Given the description of an element on the screen output the (x, y) to click on. 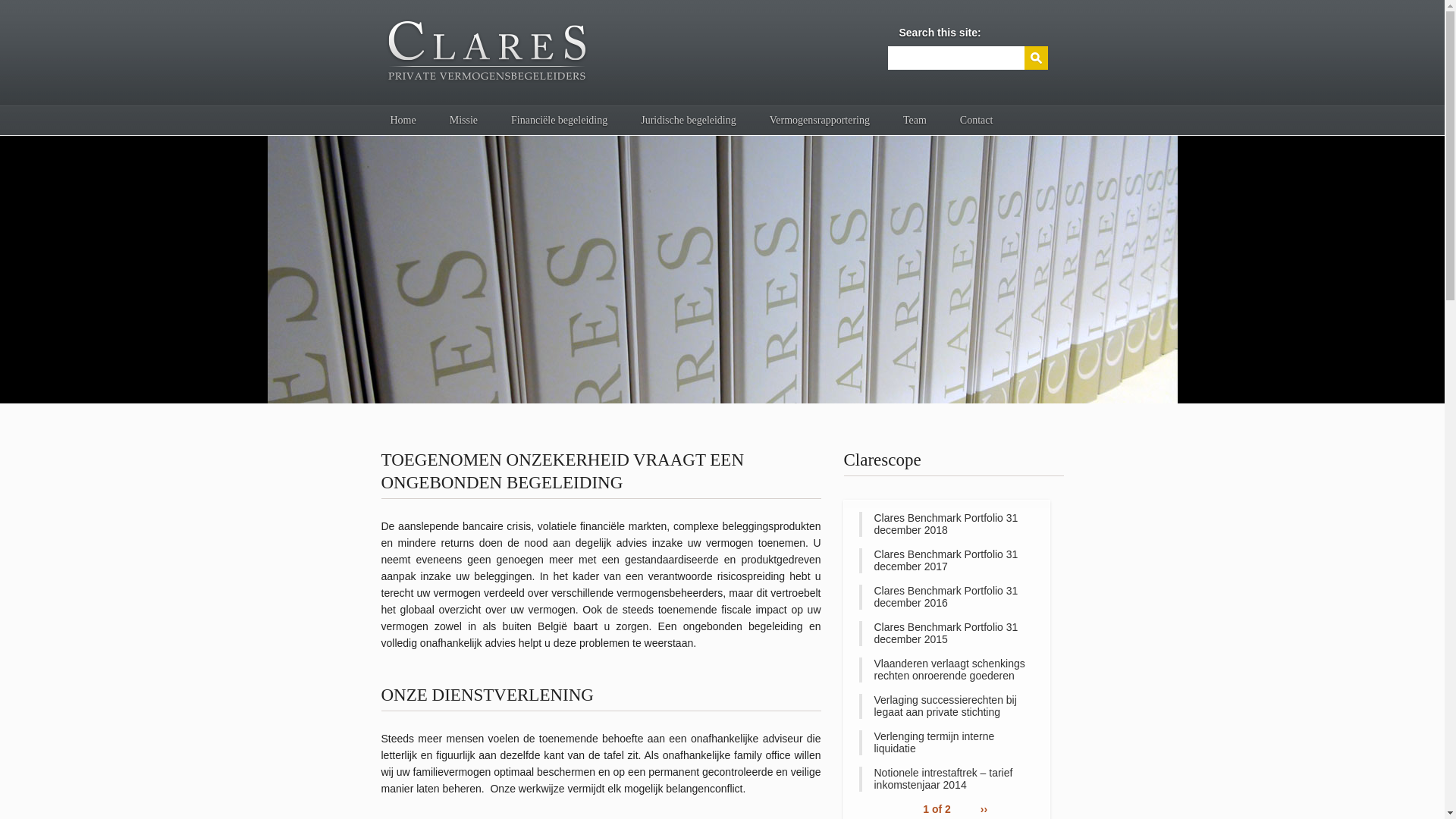
TOEGENOMEN ONZEKERHEID VRAAGT EEN ONGEBONDEN BEGELEIDING Element type: text (561, 472)
Verlaging successierechten bij legaat aan private stichting Element type: text (945, 705)
Clares Benchmark Portfolio 31 december 2016 Element type: text (945, 596)
Vermogensrapportering Element type: text (819, 120)
Juridische begeleiding Element type: text (688, 120)
Verlenging termijn interne liquidatie Element type: text (945, 742)
ONZE DIENSTVERLENING Element type: text (486, 696)
Missie Element type: text (463, 120)
Contact Element type: text (976, 120)
Clares Benchmark Portfolio 31 december 2017 Element type: text (945, 560)
Team Element type: text (914, 120)
Home Element type: text (402, 120)
Clares Benchmark Portfolio 31 december 2015 Element type: text (945, 633)
Enter the terms you wish to search for. Element type: hover (955, 57)
Vlaanderen verlaagt schenkings rechten onroerende goederen Element type: text (945, 669)
Clares Benchmark Portfolio 31 december 2018 Element type: text (945, 523)
Clares Element type: hover (721, 269)
